Given the description of an element on the screen output the (x, y) to click on. 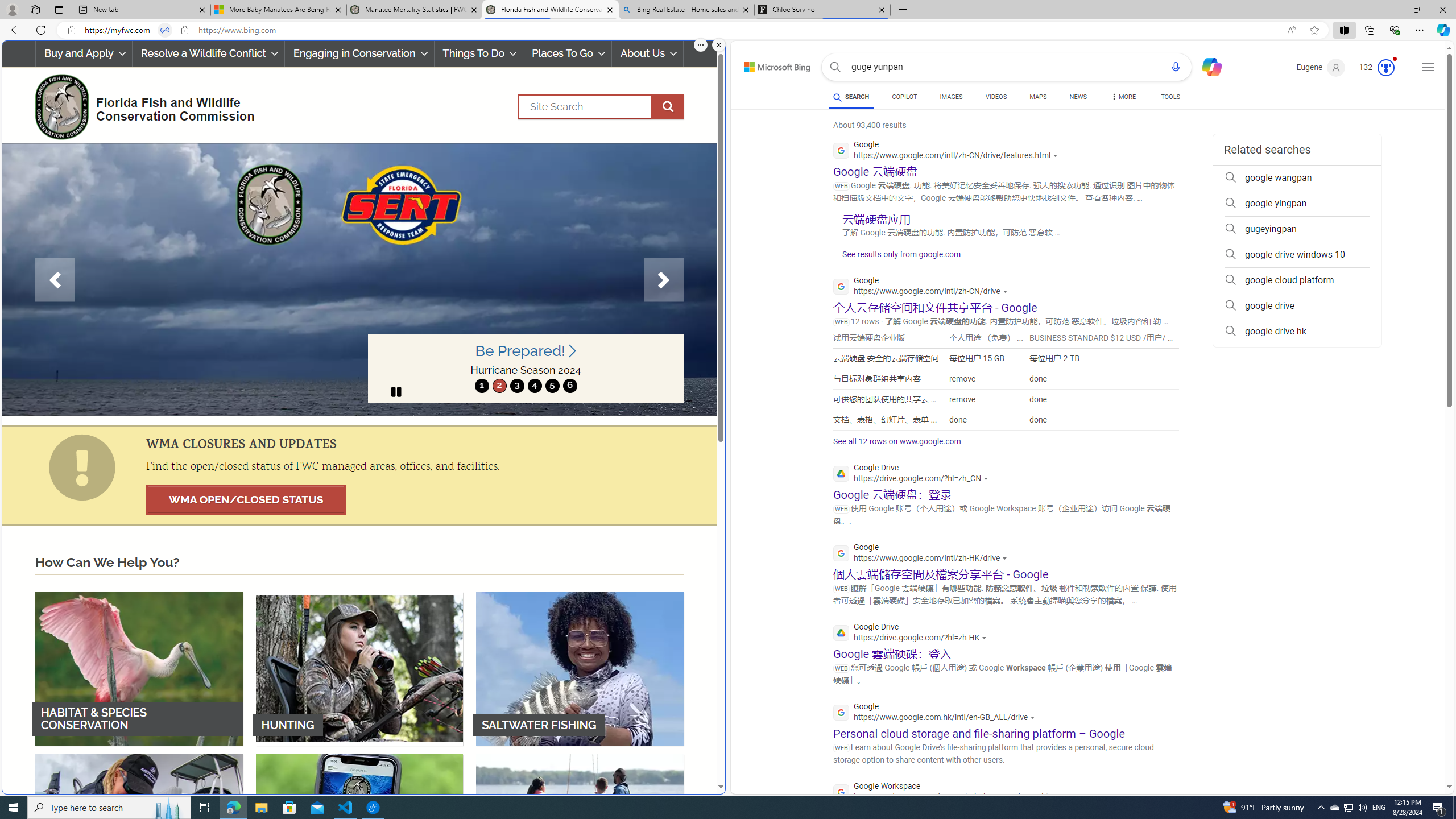
AutomationID: mfa_root (1406, 752)
WMA OPEN/CLOSED STATUS (245, 499)
MAPS (1038, 96)
Global web icon (841, 791)
COPILOT (903, 96)
App bar (728, 29)
move to slide 2 (499, 385)
SEARCH (850, 96)
Back to Bing search (770, 64)
Places To Go (566, 53)
